Given the description of an element on the screen output the (x, y) to click on. 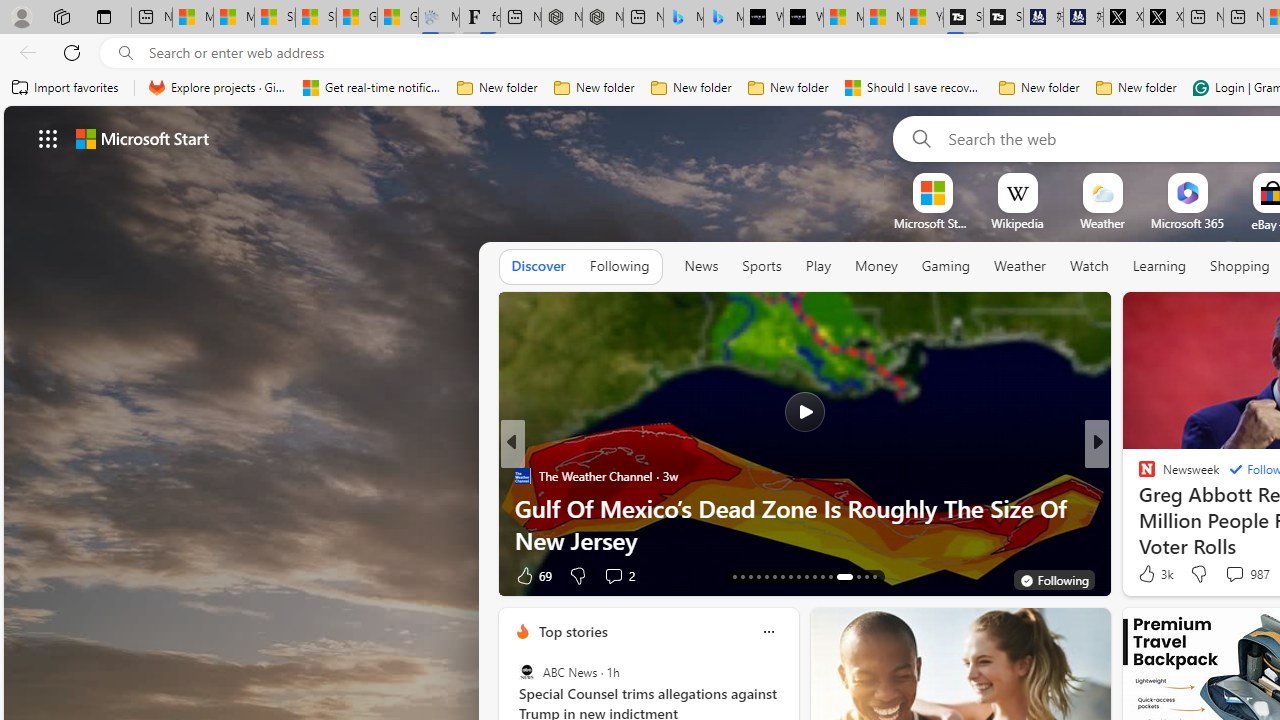
The Independent (1138, 475)
Nordace - #1 Japanese Best-Seller - Siena Smart Backpack (602, 17)
What's the best AI voice generator? - voice.ai (803, 17)
Should I save recovered Word documents? - Microsoft Support (913, 88)
Search icon (125, 53)
Watch (1089, 267)
Learning (1159, 265)
Gaming (945, 267)
View comments 17 Comment (1234, 575)
AutomationID: tab-28 (865, 576)
View comments 251 Comment (11, 575)
View comments 174 Comment (11, 575)
